Given the description of an element on the screen output the (x, y) to click on. 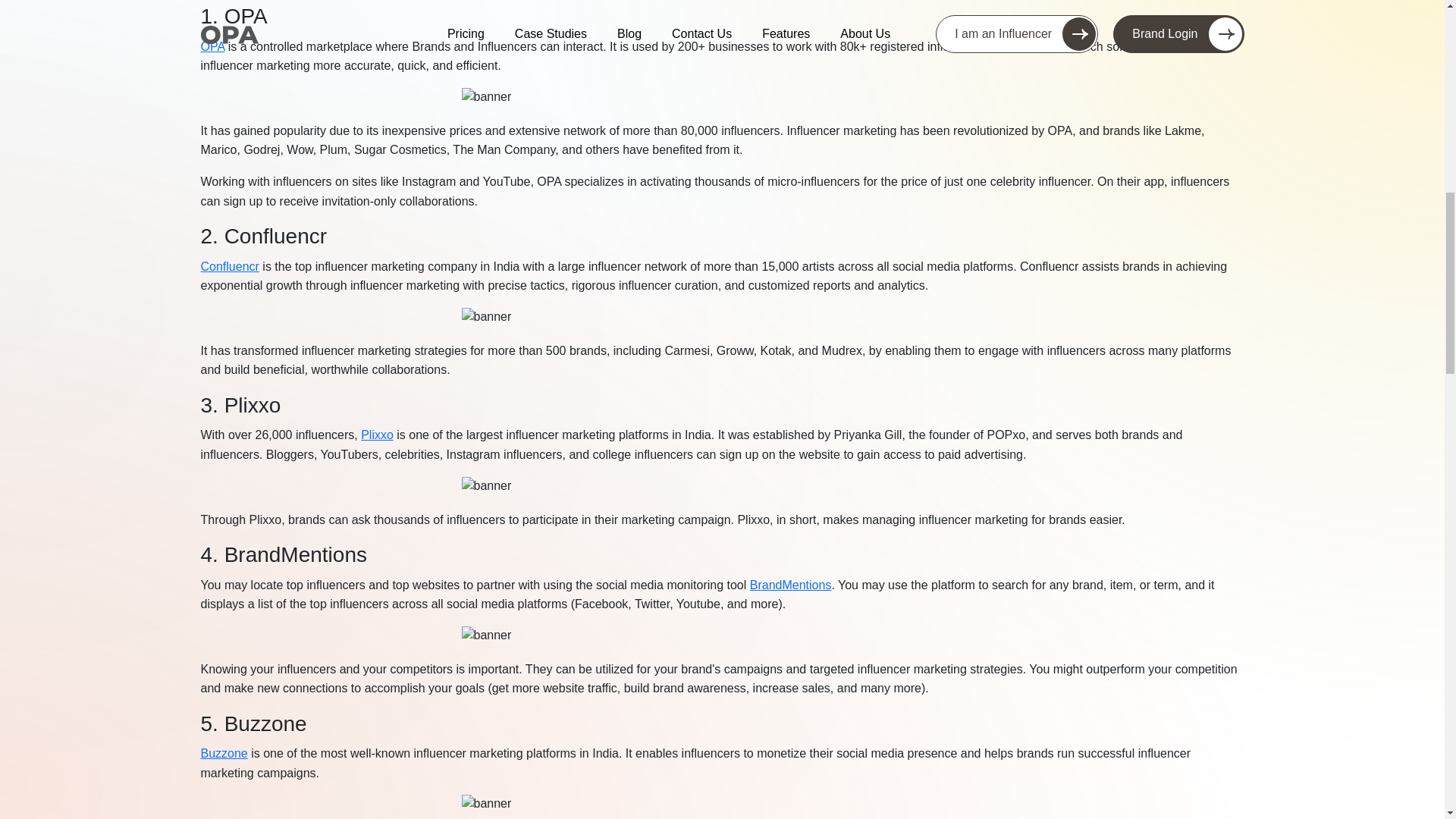
Plixxo (377, 434)
Buzzone (223, 753)
Confluencr (229, 266)
BrandMentions (790, 584)
OPA (212, 46)
